Given the description of an element on the screen output the (x, y) to click on. 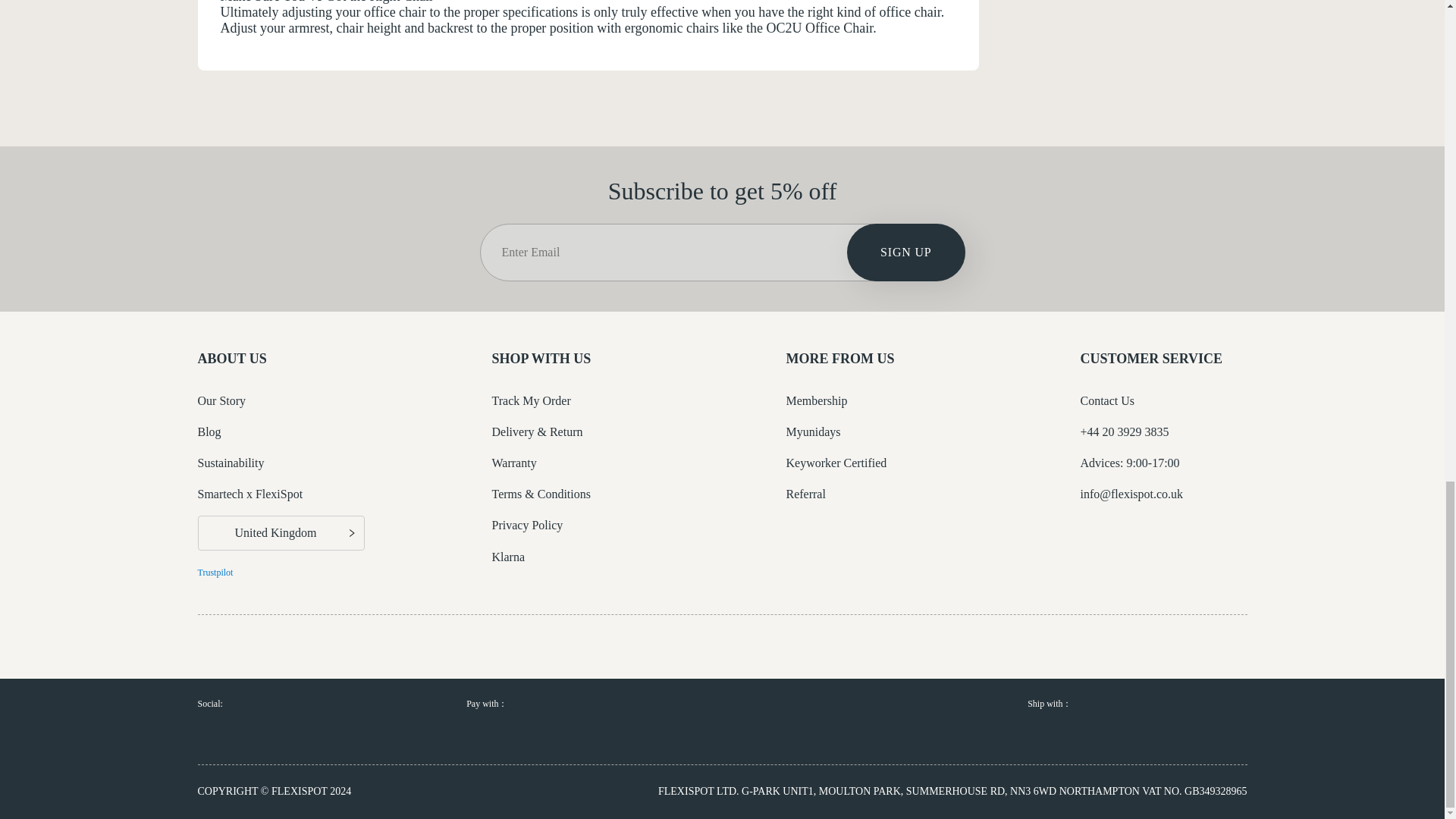
SIGN UP (905, 251)
Blog (208, 431)
Sustainability (229, 462)
Smartech x FlexiSpot (249, 493)
Our Story (221, 400)
Klarna (508, 556)
Contact Us (1107, 400)
Referral (805, 493)
Keyworker Certified (836, 462)
Trustpilot (214, 572)
Privacy Policy (527, 524)
Myunidays (813, 431)
Track My Order (531, 400)
Membership (816, 400)
Warranty (513, 462)
